Given the description of an element on the screen output the (x, y) to click on. 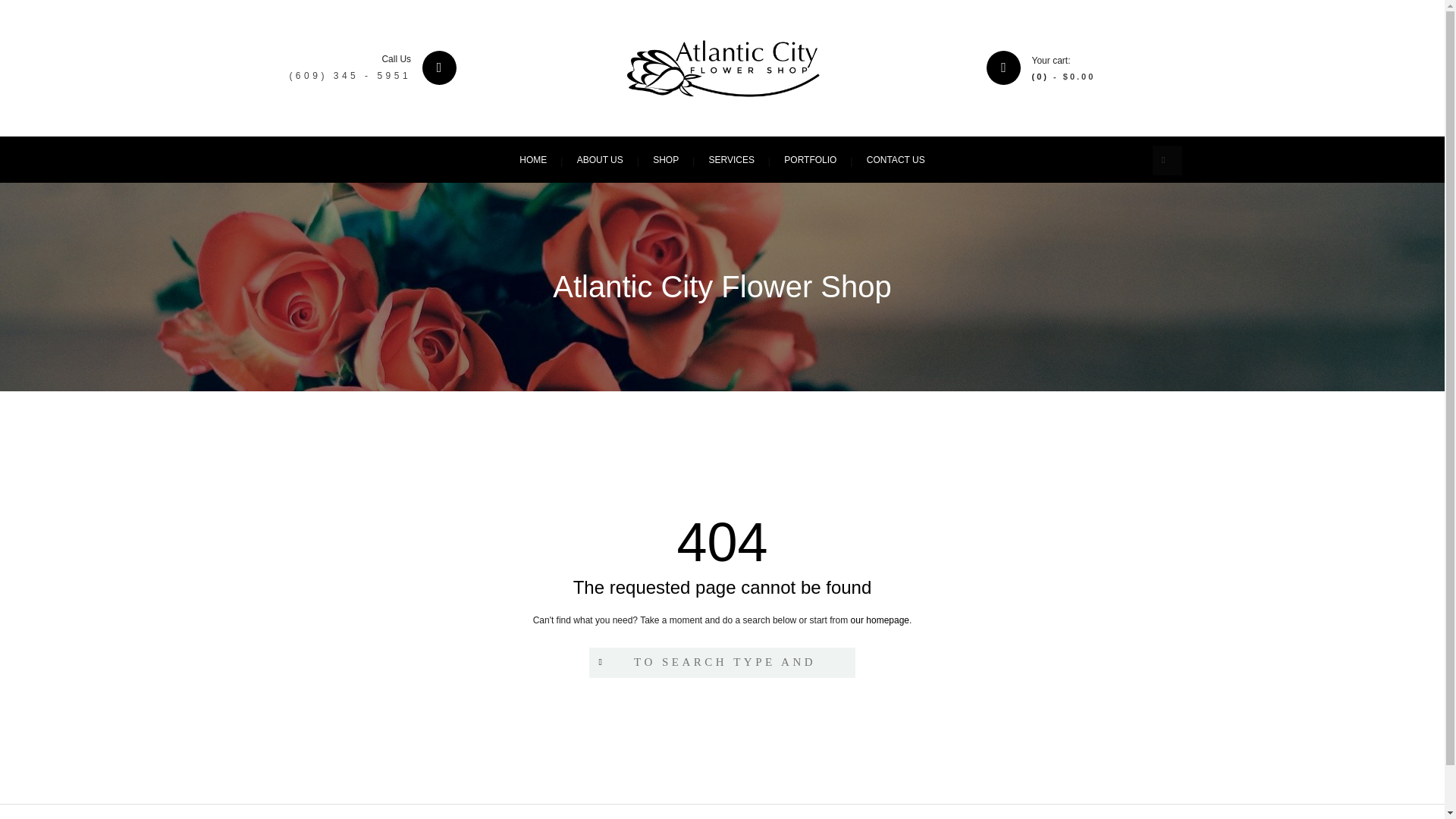
ABOUT US (600, 159)
HOME (532, 159)
SERVICES (730, 159)
SHOP (666, 159)
CONTACT US (896, 159)
PORTFOLIO (810, 159)
our homepage (879, 620)
